Given the description of an element on the screen output the (x, y) to click on. 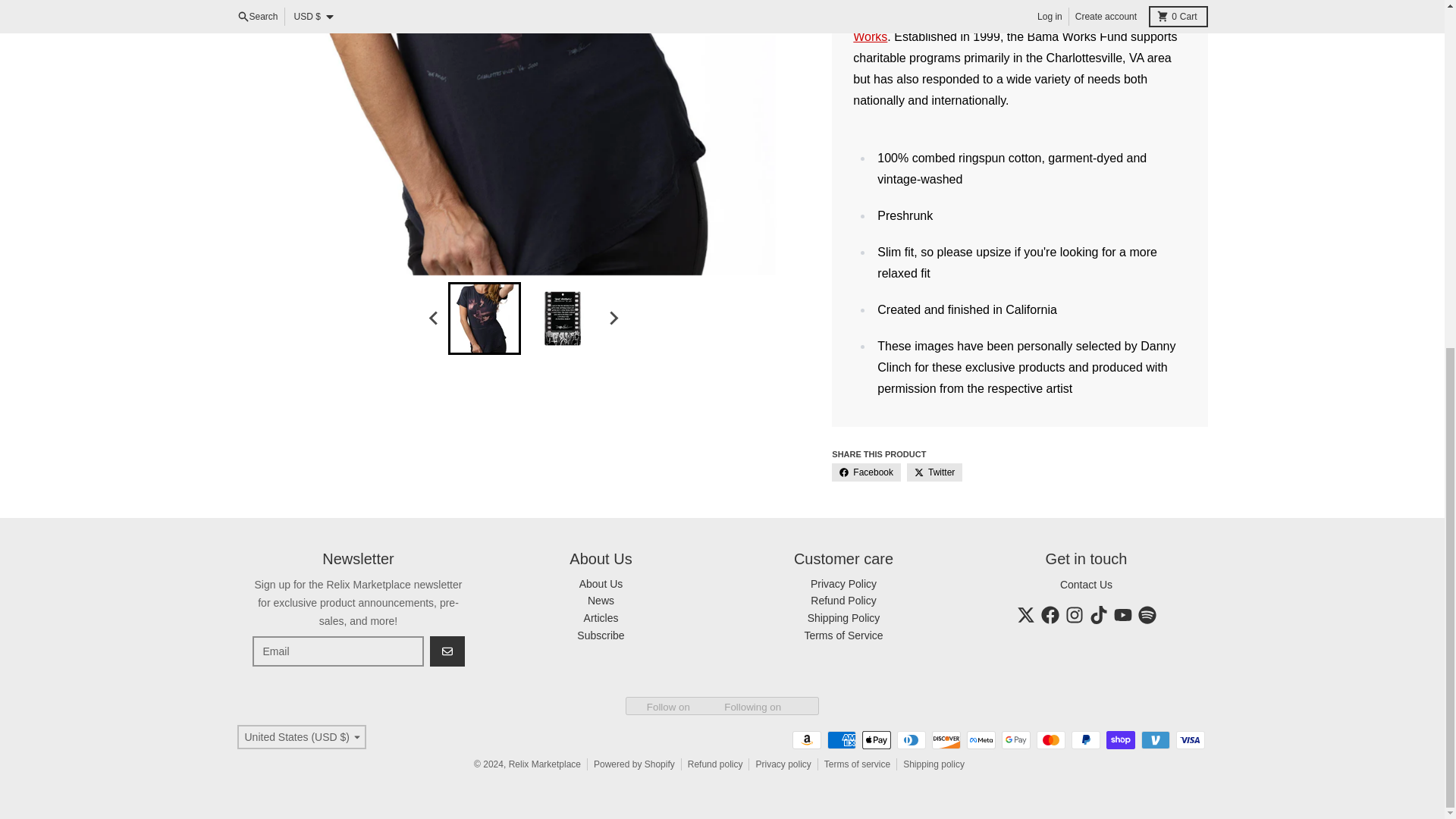
Spotify - Relix Marketplace (1146, 614)
Facebook - Relix Marketplace (1049, 614)
Instagram - Relix Marketplace (1073, 614)
Twitter - Relix Marketplace (1024, 614)
TikTok - Relix Marketplace (1097, 614)
YouTube - Relix Marketplace (1122, 614)
